Given the description of an element on the screen output the (x, y) to click on. 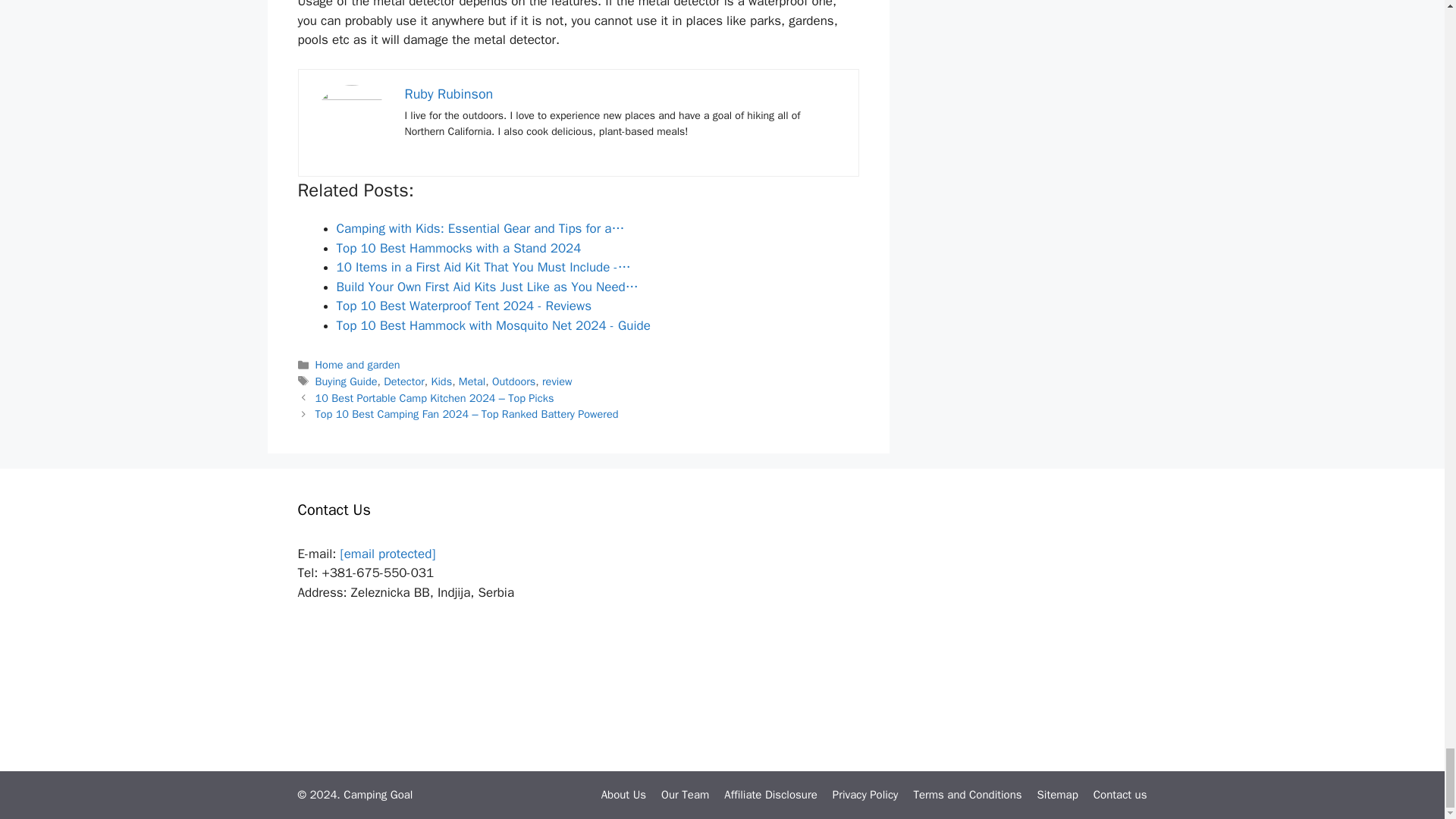
Kids (440, 381)
review (556, 381)
Top 10 Best Hammock with Mosquito Net 2024 - Guide (493, 325)
Ruby Rubinson (448, 93)
Outdoors (513, 381)
Detector (404, 381)
Metal (471, 381)
Buying Guide (346, 381)
Home and garden (357, 364)
Top 10 Best Waterproof Tent 2024 - Reviews (464, 305)
Top 10 Best Hammocks with a Stand 2024 (458, 248)
